Given the description of an element on the screen output the (x, y) to click on. 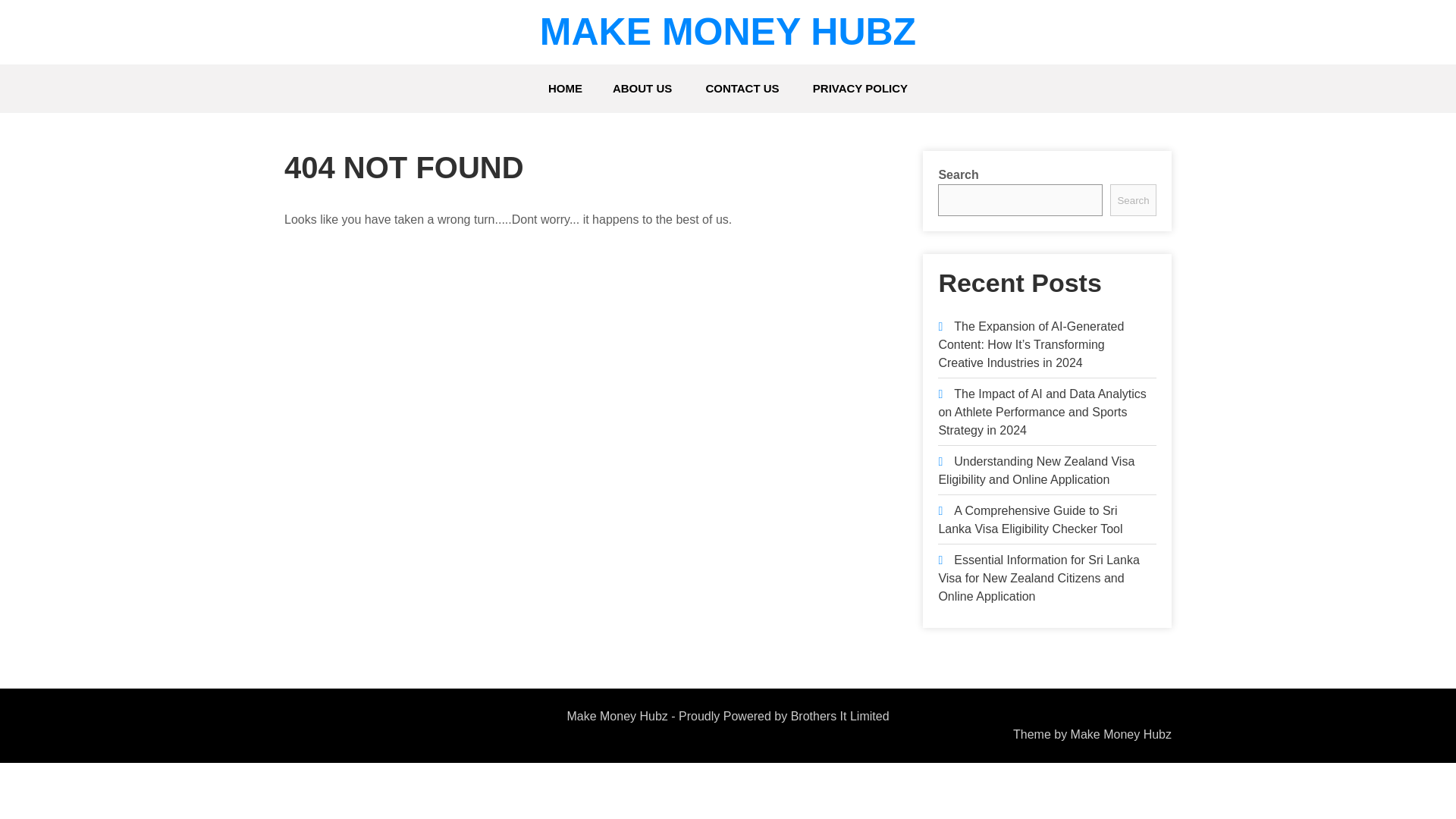
PRIVACY POLICY (860, 88)
HOME (564, 88)
MAKE MONEY HUBZ (727, 31)
CONTACT US (741, 88)
ABOUT US (641, 88)
Search (1132, 200)
